Given the description of an element on the screen output the (x, y) to click on. 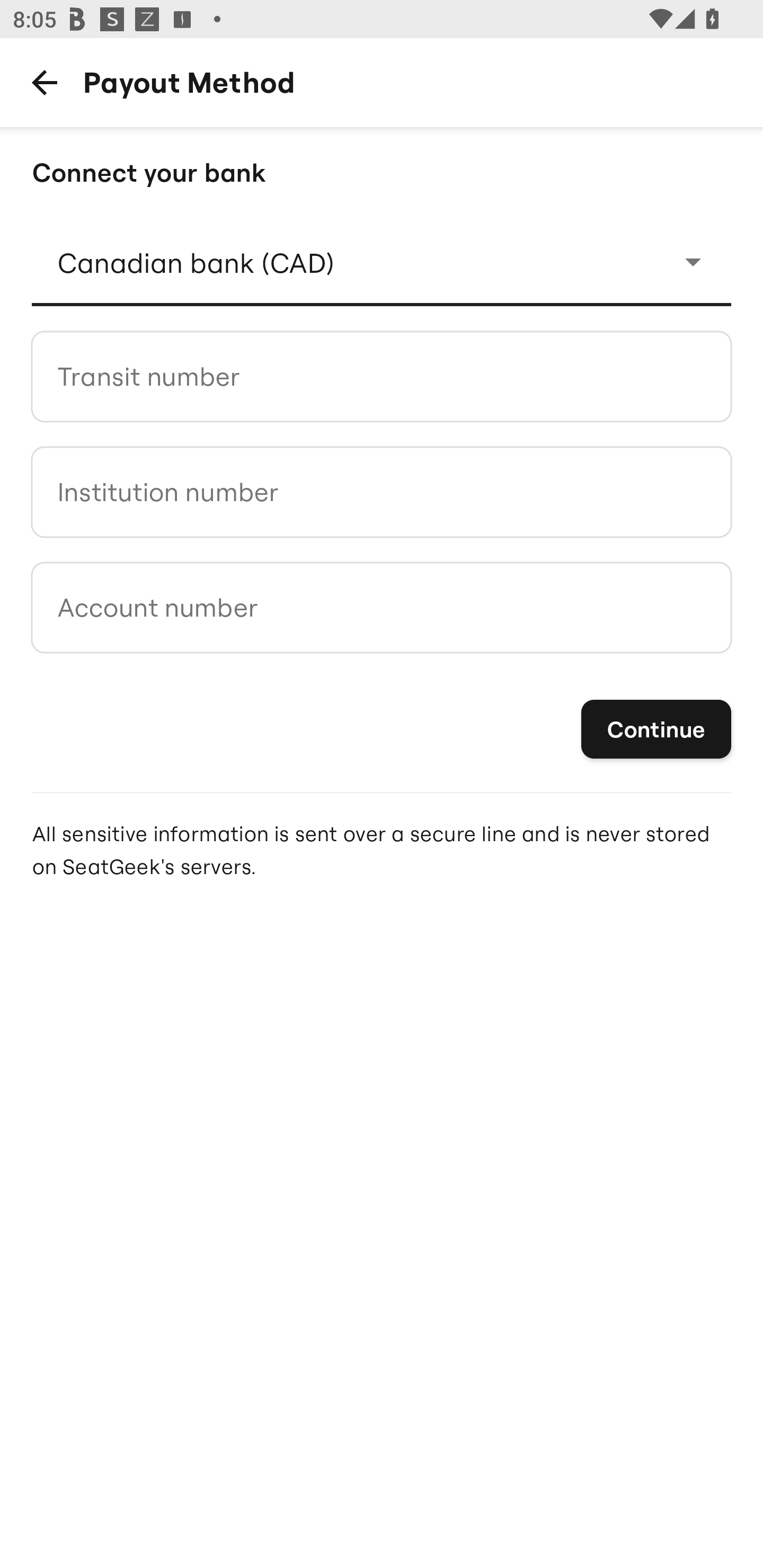
Back (44, 81)
Dropdown menu Canadian bank (CAD) (381, 261)
Transit number (381, 375)
Institution number (381, 491)
Account number (381, 607)
Continue (655, 729)
